Given the description of an element on the screen output the (x, y) to click on. 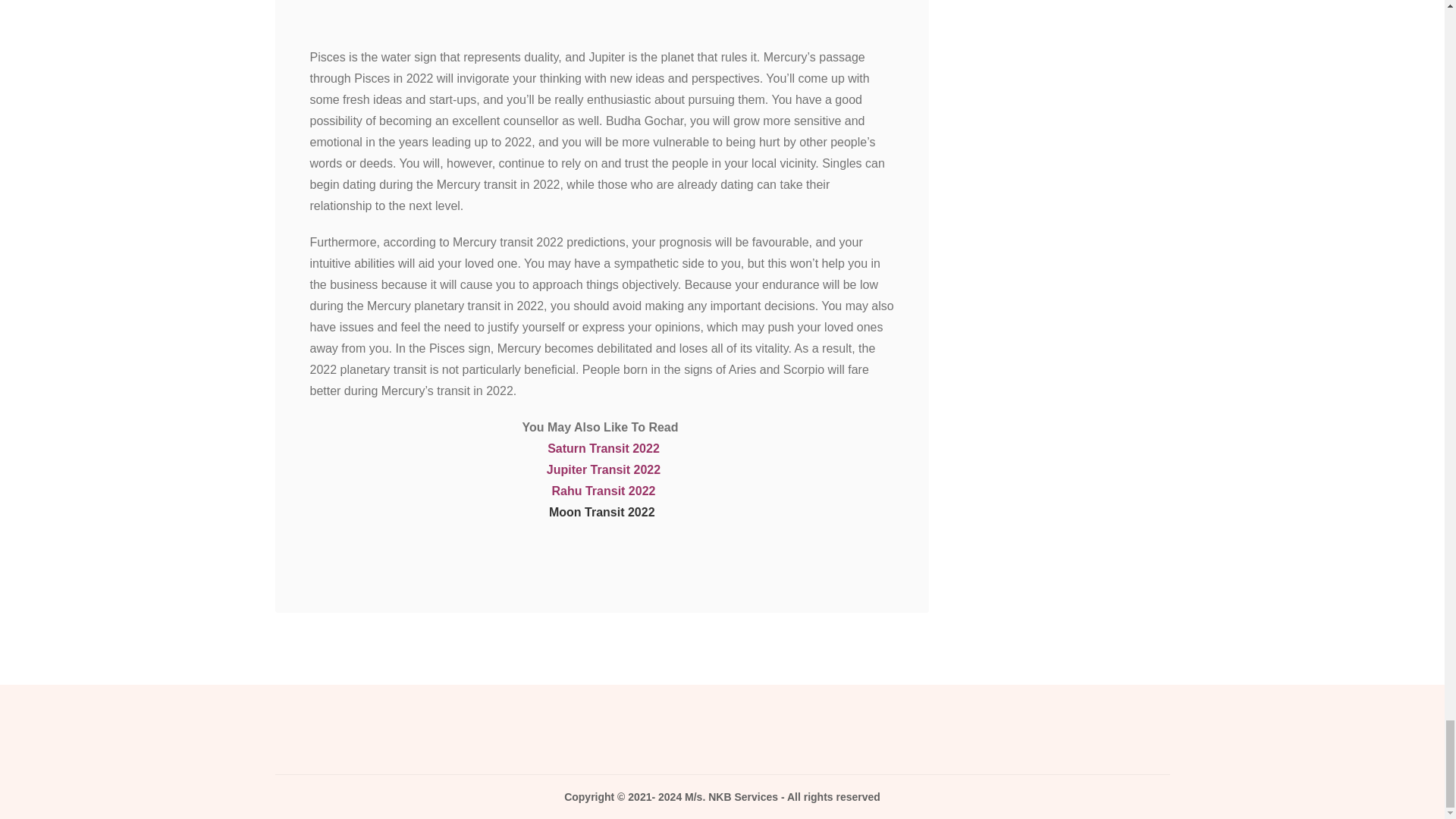
Saturn (568, 448)
Jupiter Transit 2022 (604, 469)
Moon Transit 2022 (601, 512)
Transit 2022 (624, 448)
Rahu Transit 2022 (603, 490)
